Given the description of an element on the screen output the (x, y) to click on. 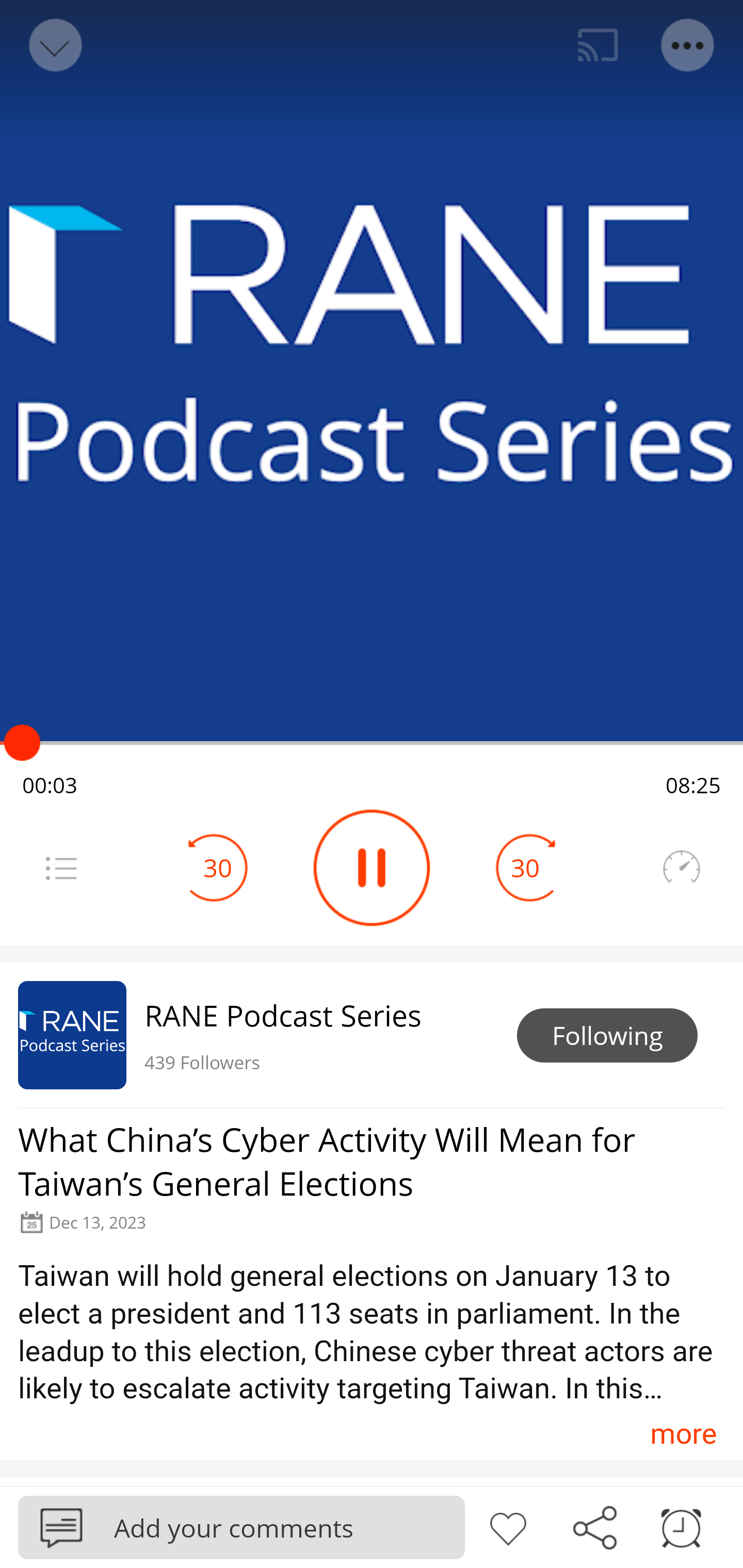
Back (53, 45)
Cast. Disconnected (597, 45)
Menu (688, 45)
Play (371, 867)
30 Seek Backward (217, 867)
30 Seek Forward (525, 867)
Menu (60, 867)
Speedometer (681, 867)
RANE Podcast Series 439 Followers Following (371, 1034)
Following (607, 1035)
more (682, 1432)
Like (508, 1526)
Share (594, 1526)
Sleep timer (681, 1526)
Podbean Add your comments (241, 1526)
